Given the description of an element on the screen output the (x, y) to click on. 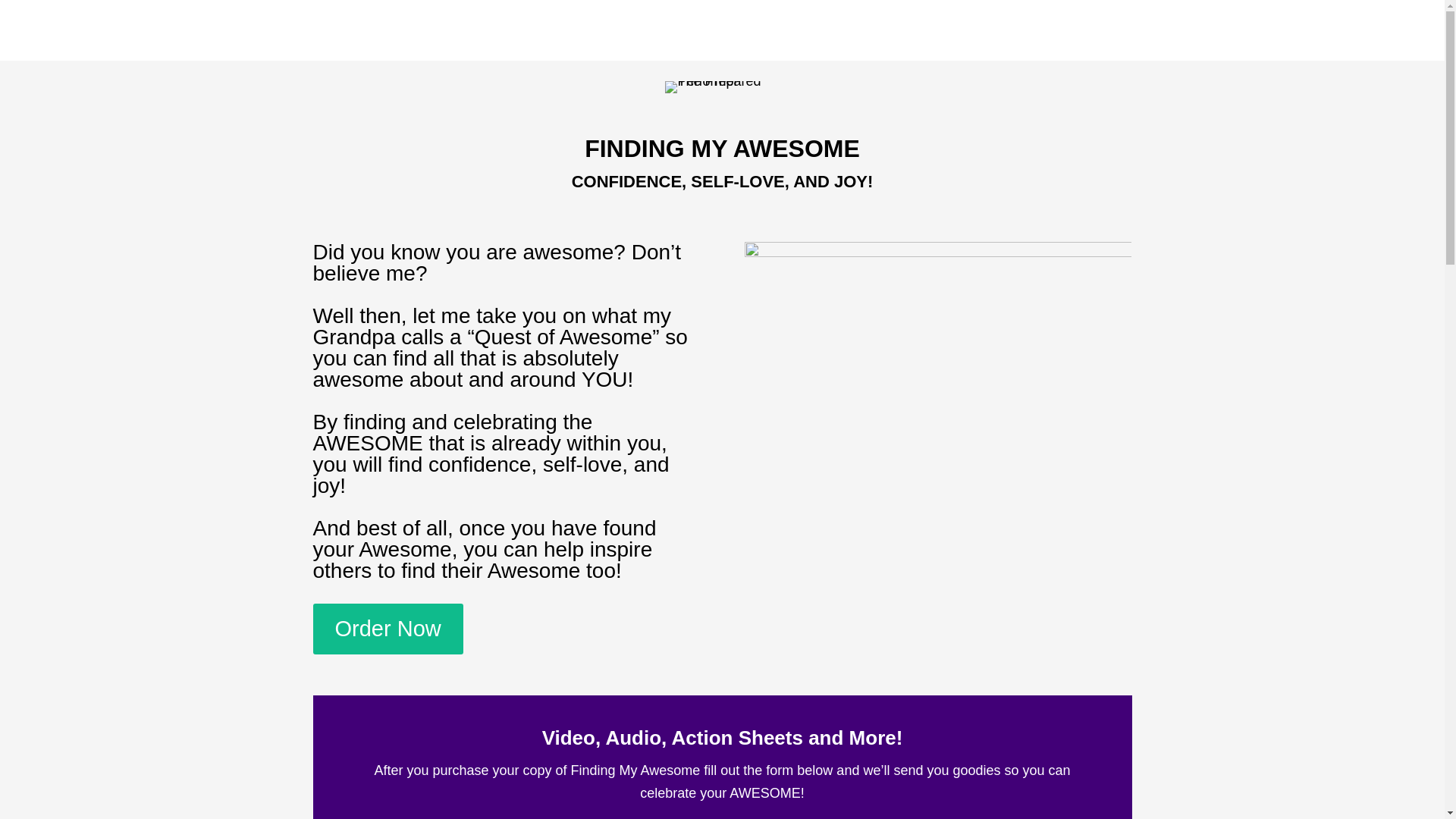
Order Now (388, 628)
